Given the description of an element on the screen output the (x, y) to click on. 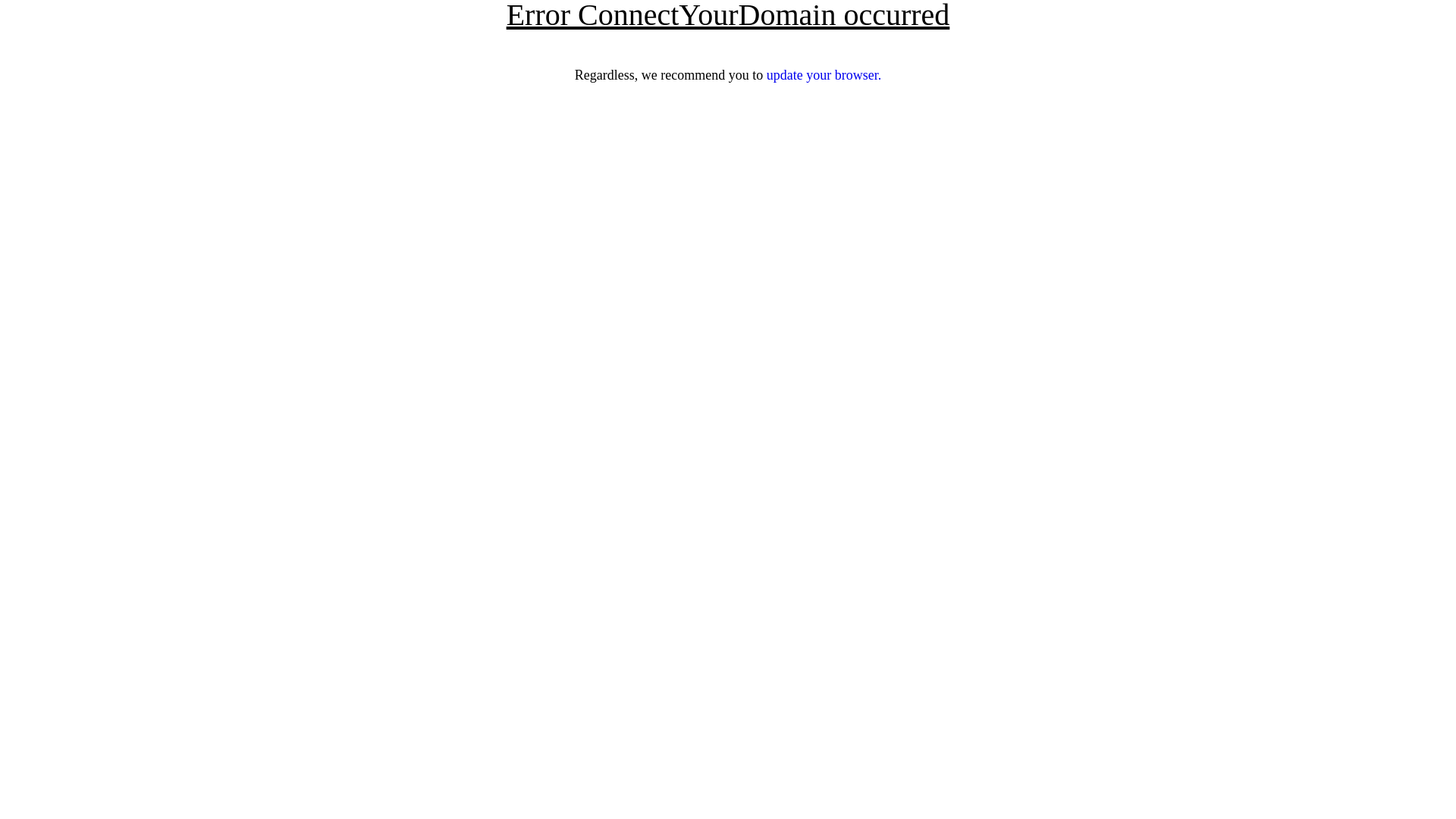
update your browser. Element type: text (823, 74)
